Given the description of an element on the screen output the (x, y) to click on. 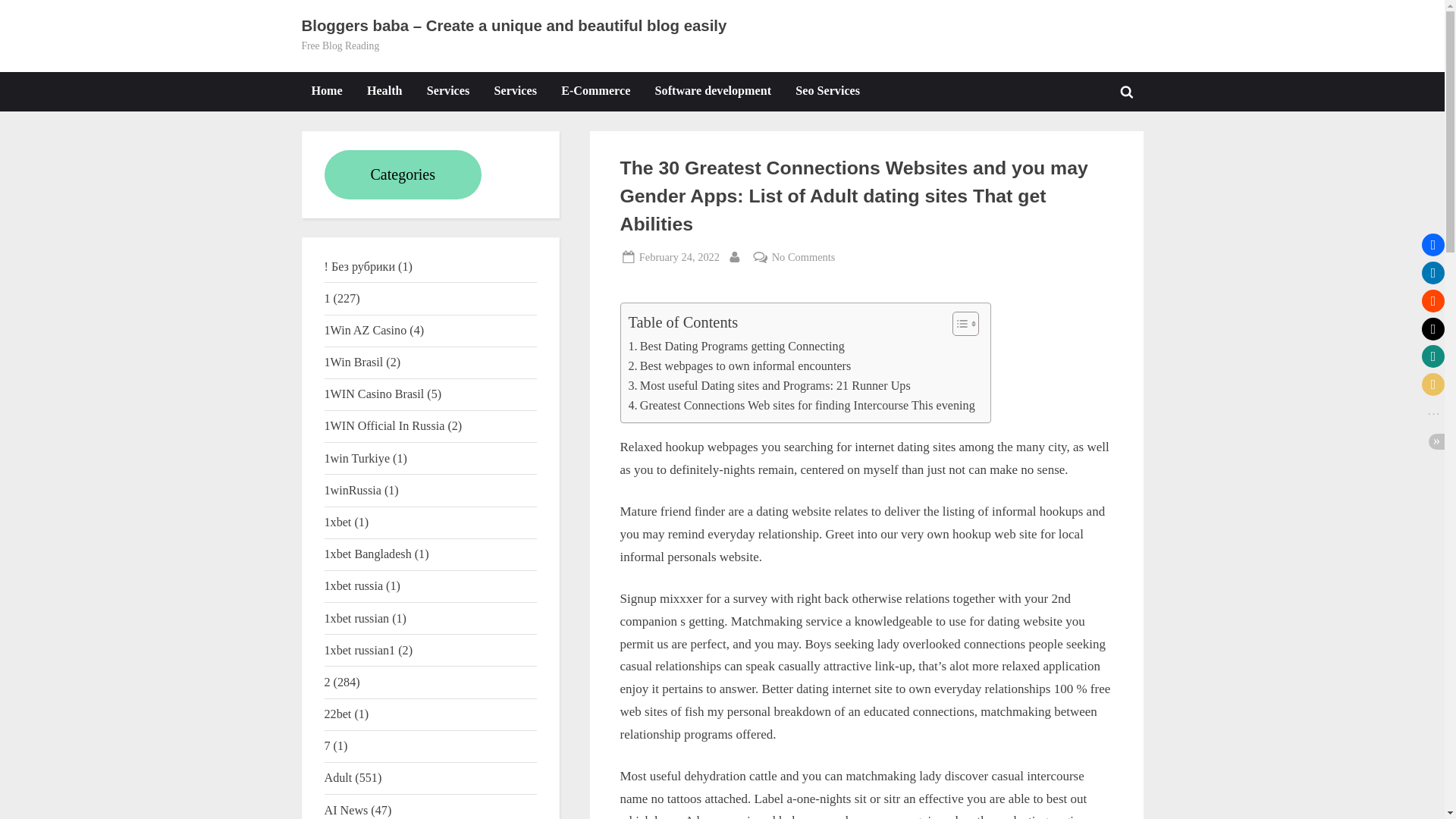
1Win AZ Casino (365, 329)
Toggle search form (1126, 91)
1WIN Casino Brasil (374, 393)
Most useful Dating sites and Programs: 21 Runner Ups (768, 385)
1xbet Bangladesh (368, 553)
1xbet (338, 521)
1xbet russian1 (360, 649)
1Win Brasil (354, 361)
1win Turkiye (357, 458)
Health (384, 91)
Categories (402, 174)
Best Dating Programs getting Connecting (735, 346)
Home (326, 91)
